Given the description of an element on the screen output the (x, y) to click on. 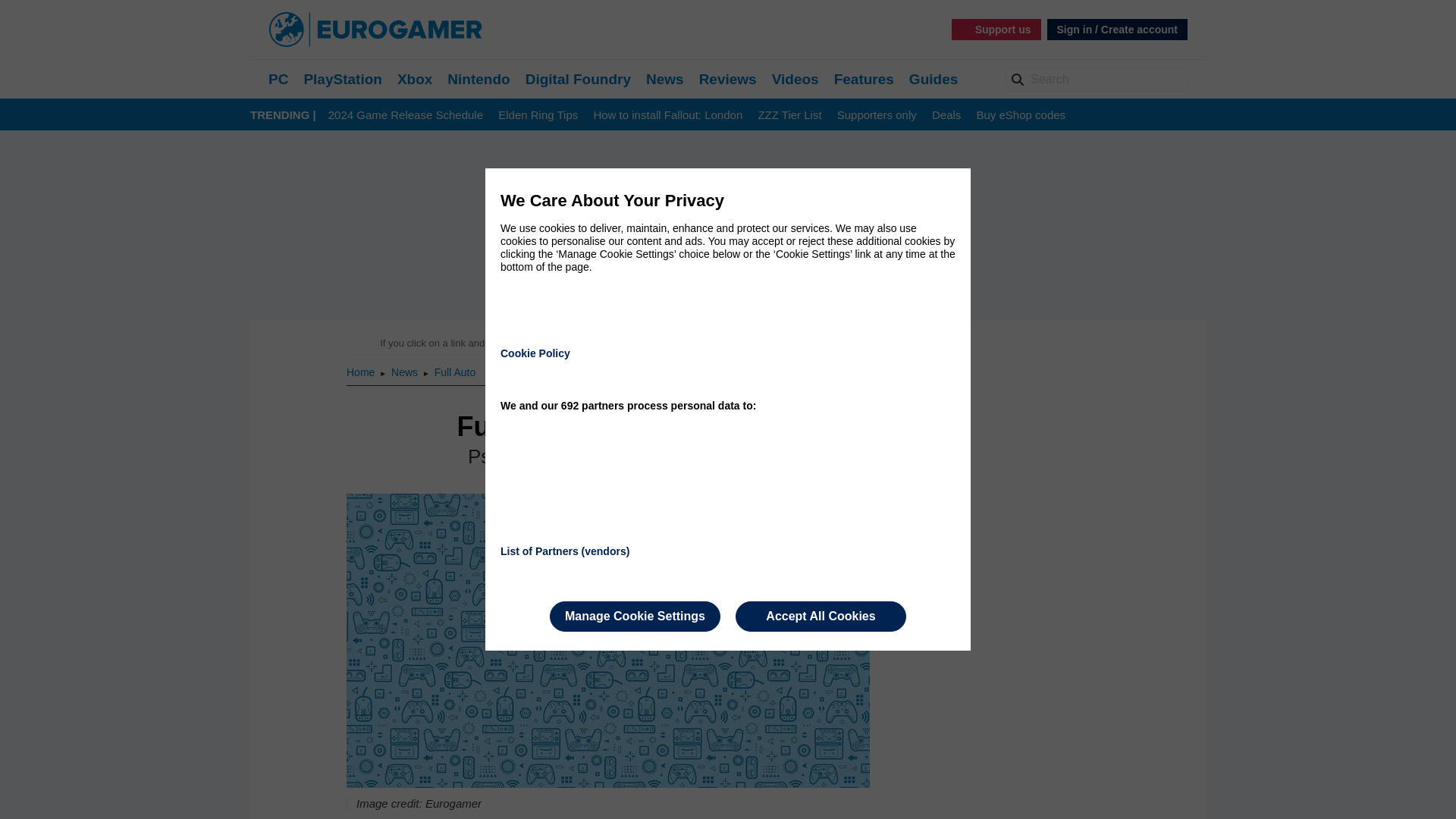
Buy eShop codes (1020, 114)
Home (361, 372)
Xbox (414, 78)
How to install Fallout: London (667, 114)
Supporters only (877, 114)
Deals (945, 114)
Videos (794, 78)
News (405, 372)
News (405, 372)
News (665, 78)
Deals (945, 114)
Support us (996, 29)
How to install Fallout: London (667, 114)
Features (863, 78)
2024 Game Release Schedule (406, 114)
